Given the description of an element on the screen output the (x, y) to click on. 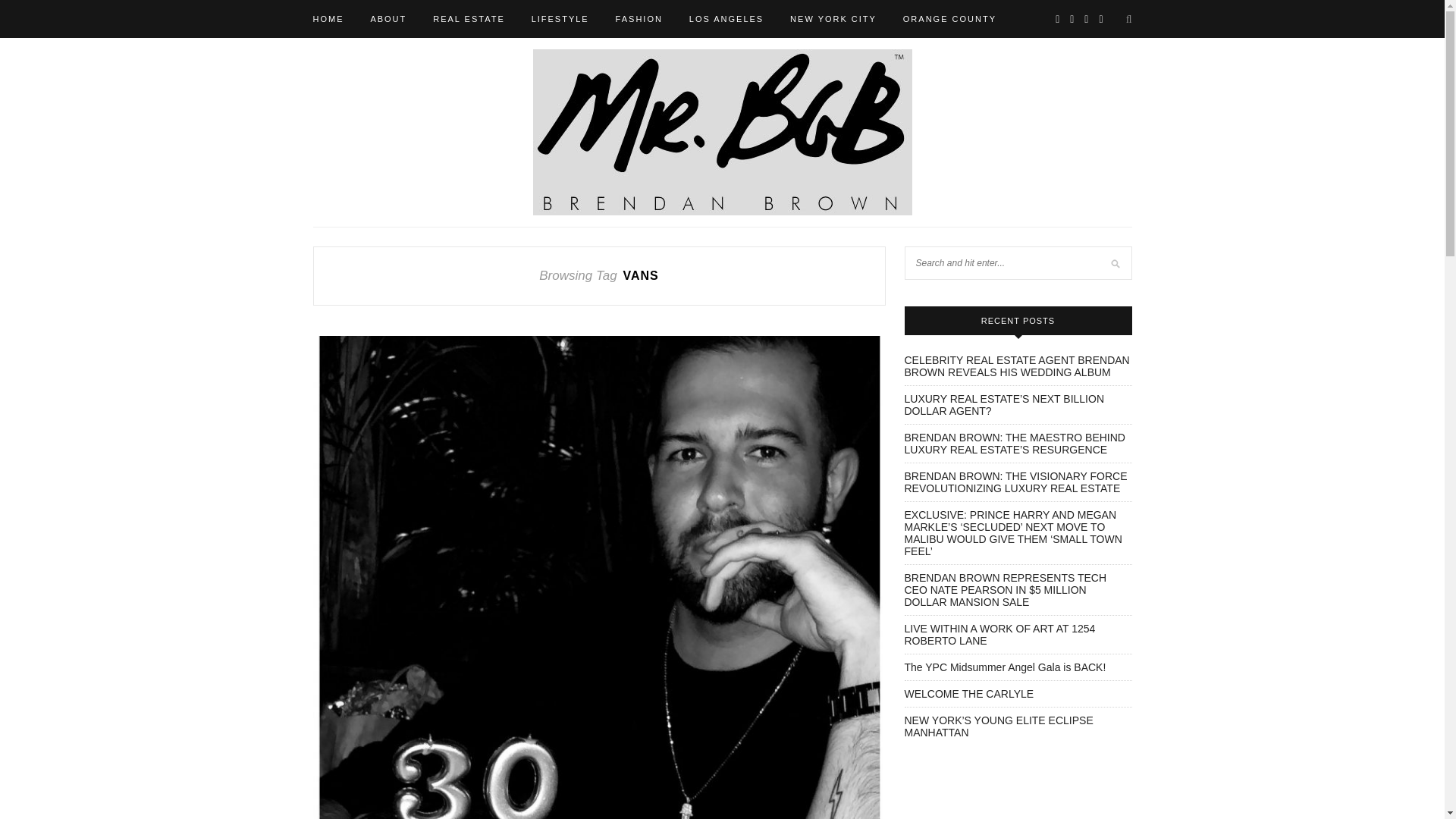
ORANGE COUNTY (948, 18)
LIFESTYLE (560, 18)
REAL ESTATE (468, 18)
NEW YORK CITY (833, 18)
LOS ANGELES (725, 18)
FASHION (638, 18)
ABOUT (387, 18)
